Given the description of an element on the screen output the (x, y) to click on. 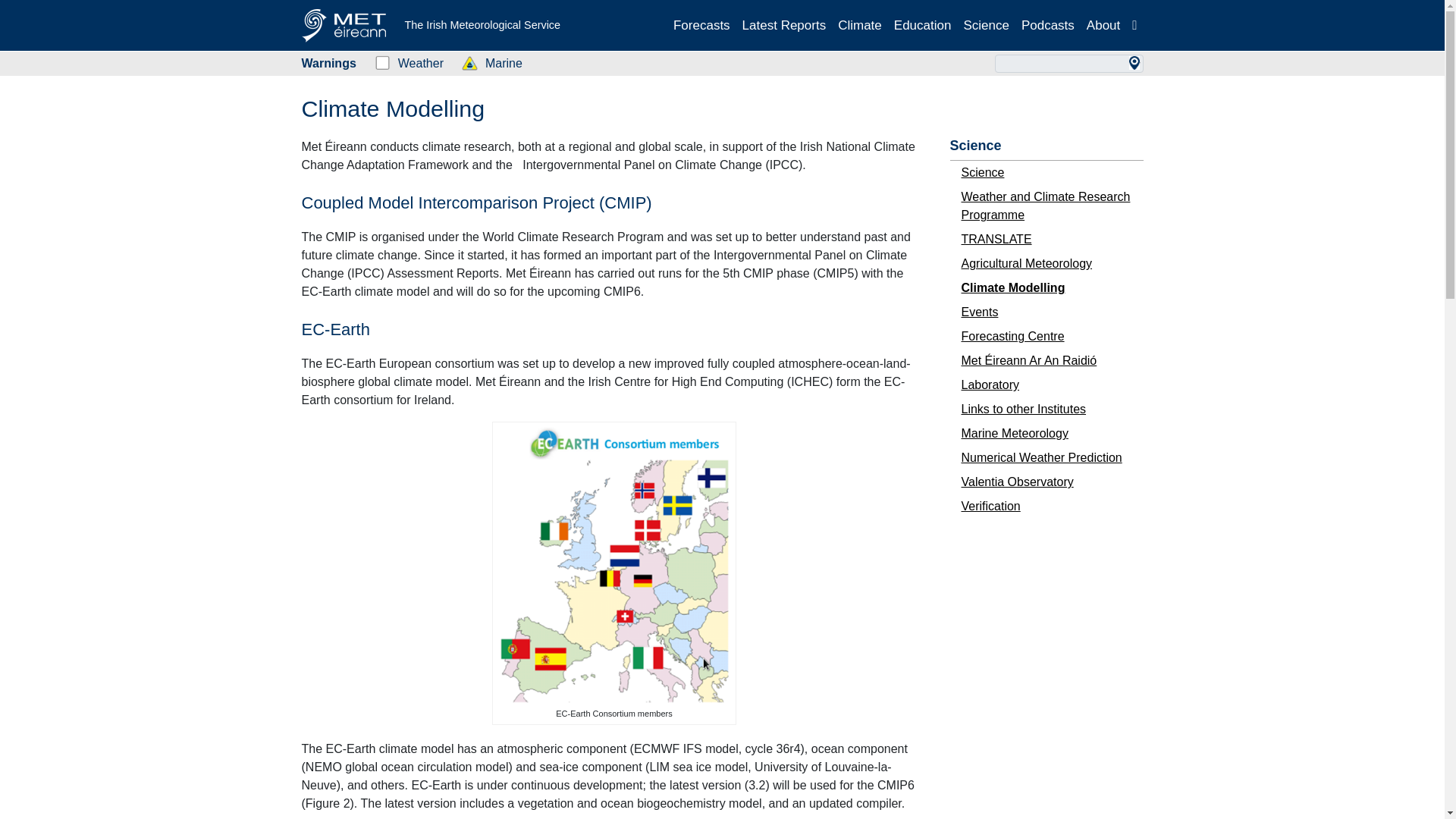
Climate (859, 25)
Latest Reports (784, 25)
Forecasts (701, 25)
The Irish Meteorological Service (430, 25)
